Given the description of an element on the screen output the (x, y) to click on. 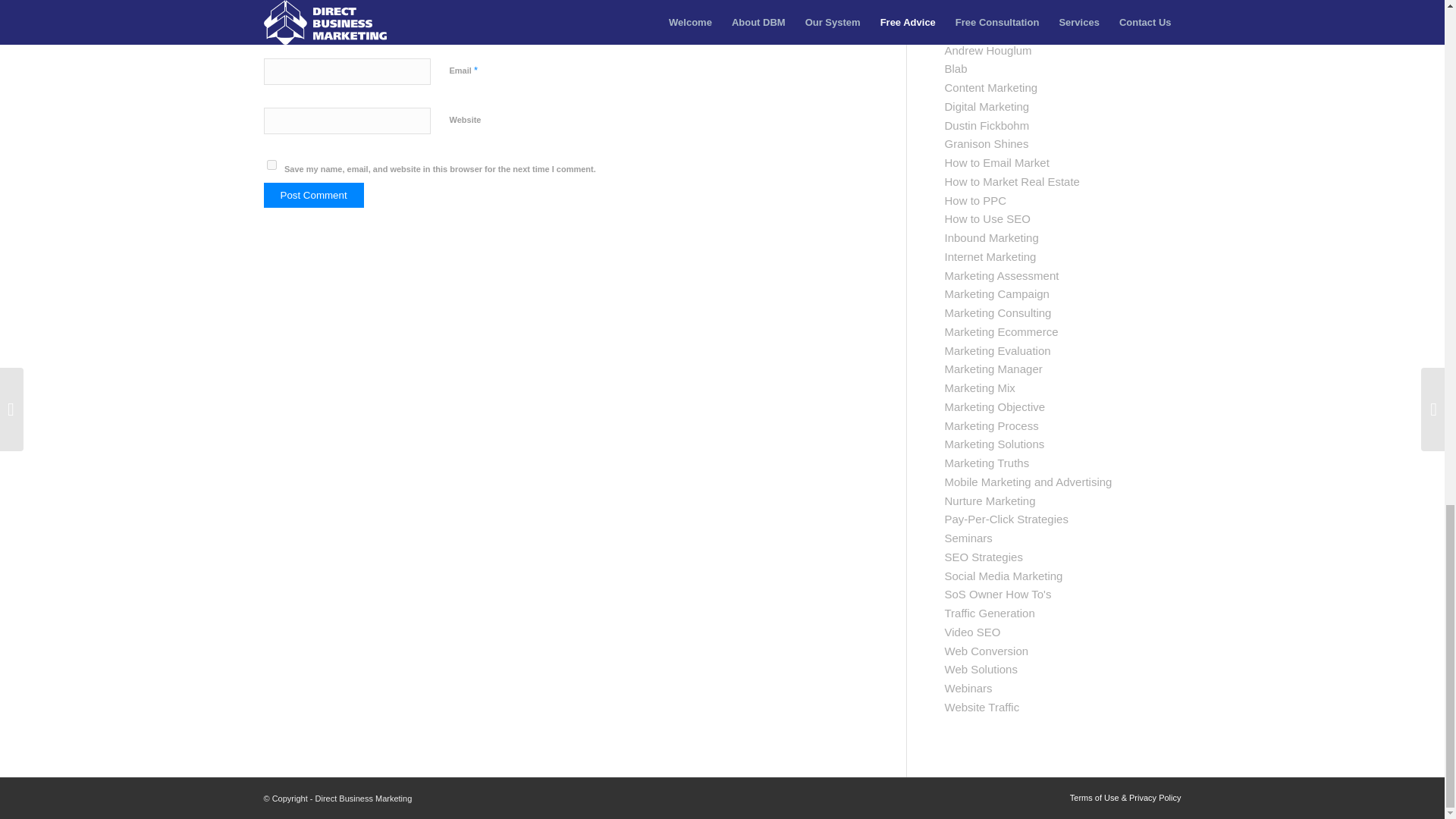
Post Comment (313, 195)
yes (271, 164)
